Given the description of an element on the screen output the (x, y) to click on. 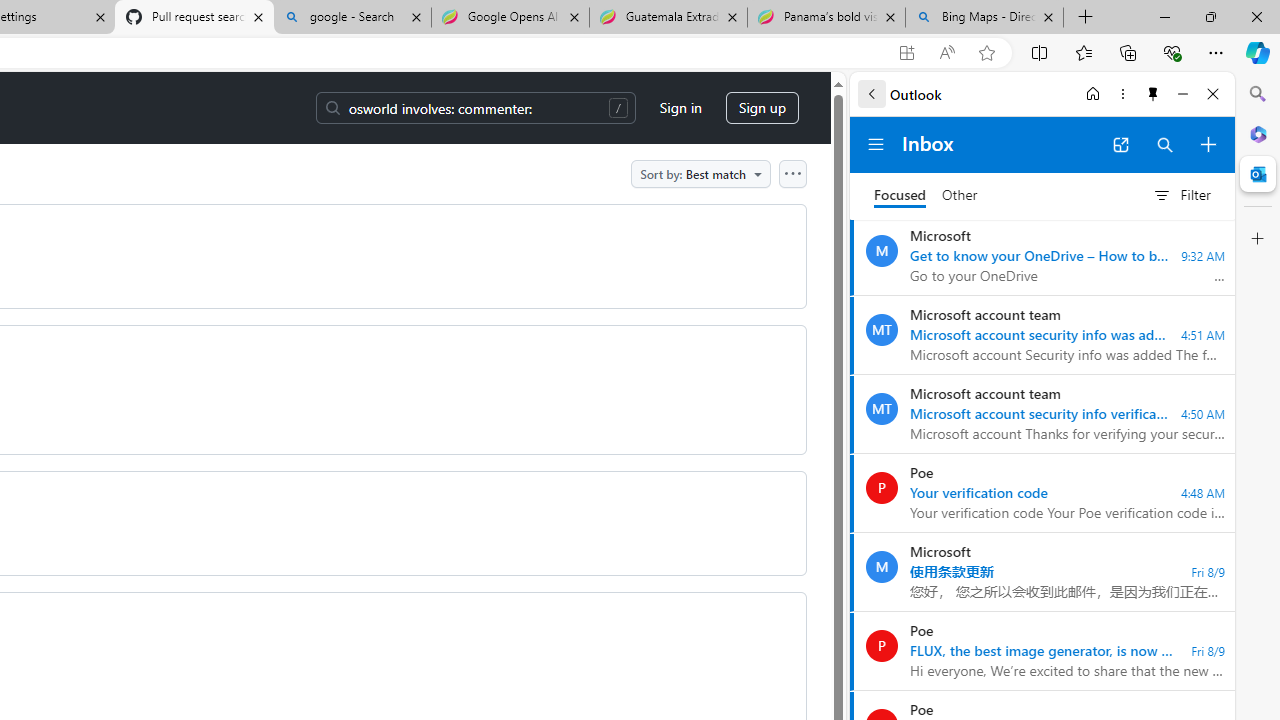
Focused Inbox, toggle to go to Other Inbox (925, 195)
